Given the description of an element on the screen output the (x, y) to click on. 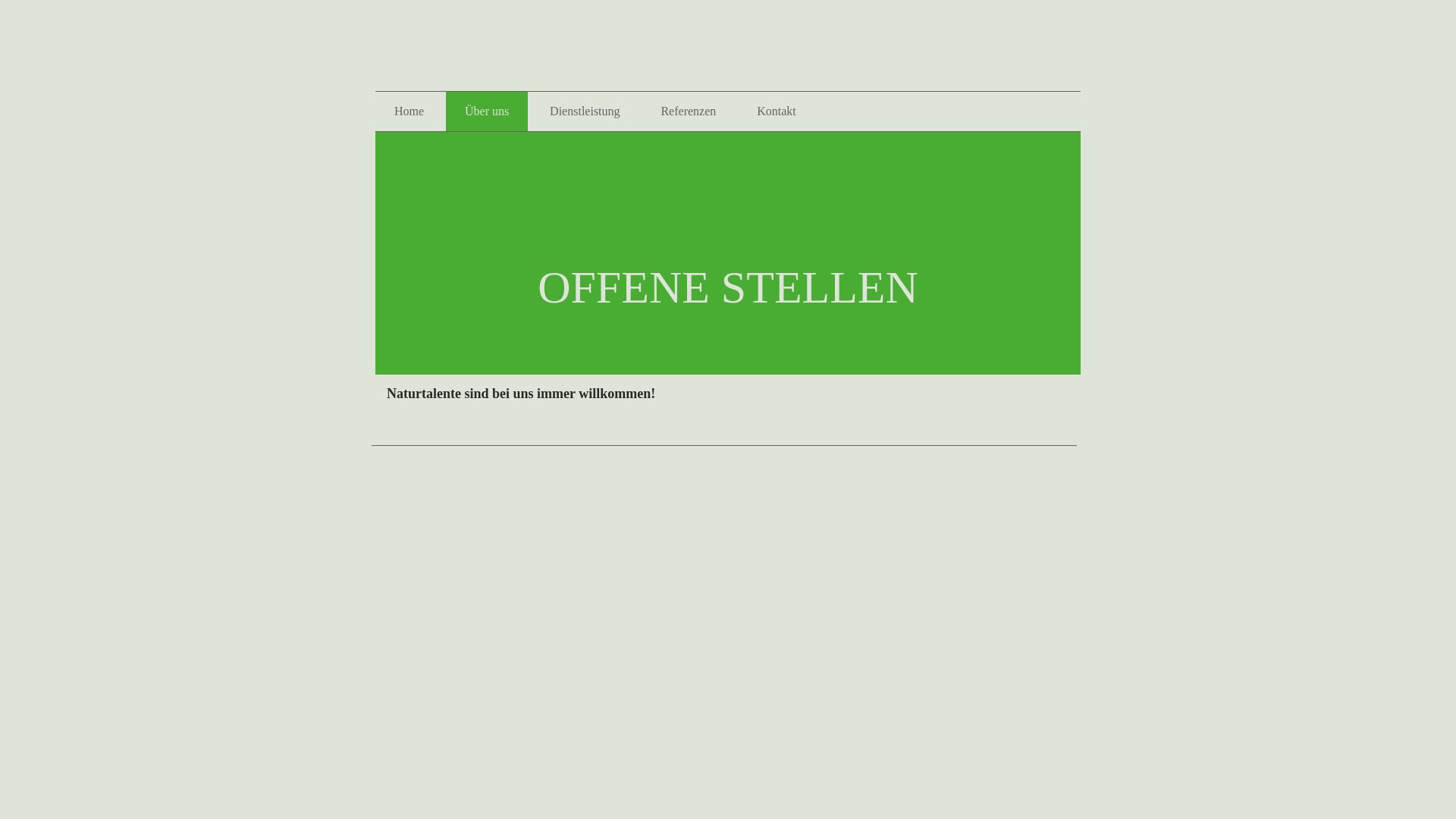
Dienstleistung Element type: text (584, 111)
Referenzen Element type: text (687, 111)
Home Element type: text (408, 111)
Kontakt Element type: text (776, 111)
